Given the description of an element on the screen output the (x, y) to click on. 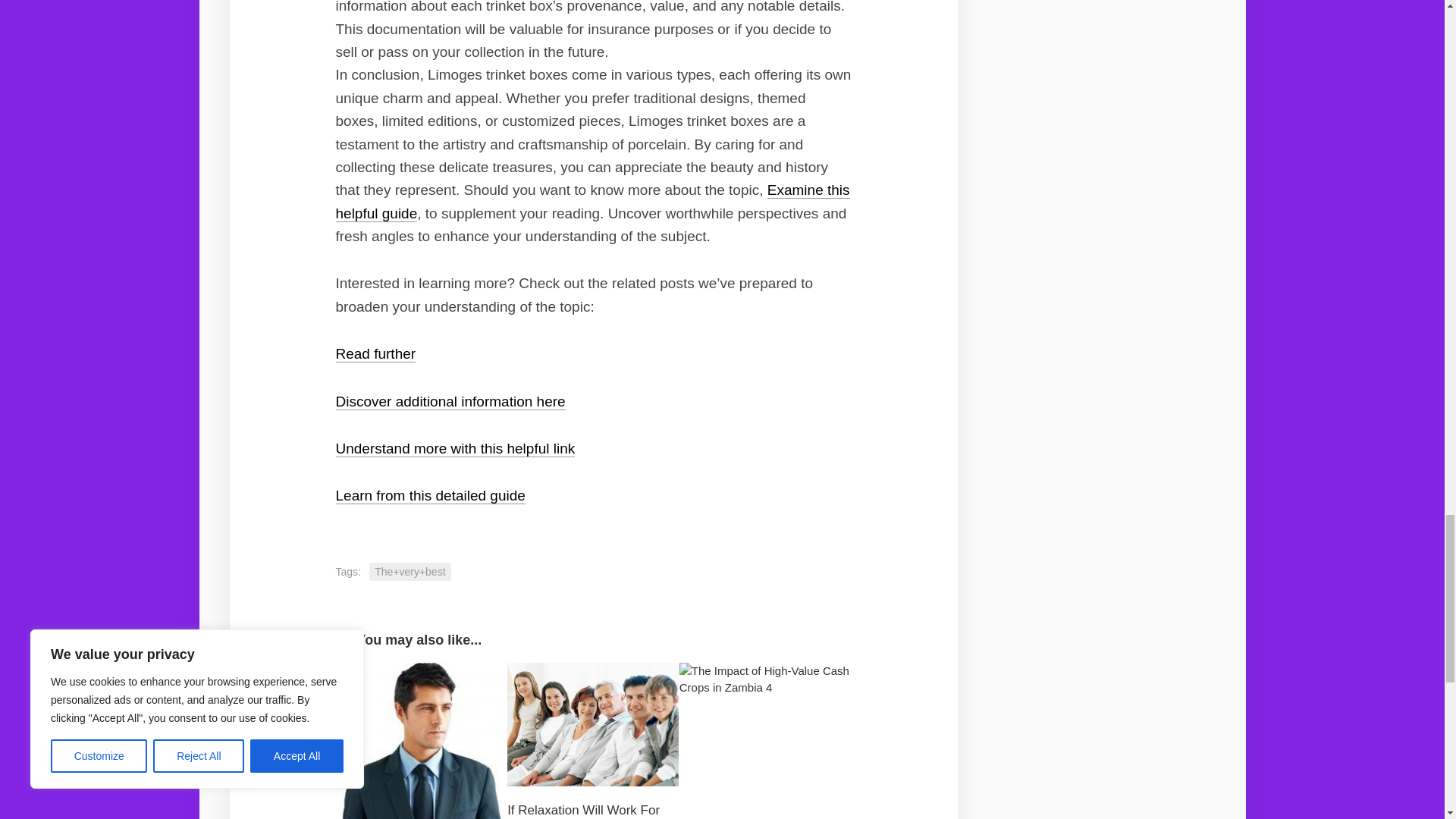
If Relaxation Will Work For Me, How Do You Know? (582, 811)
Examine this helpful guide (591, 200)
Discover additional information here (449, 401)
Read further (374, 353)
Understand more with this helpful link (454, 448)
Learn from this detailed guide (429, 495)
